Given the description of an element on the screen output the (x, y) to click on. 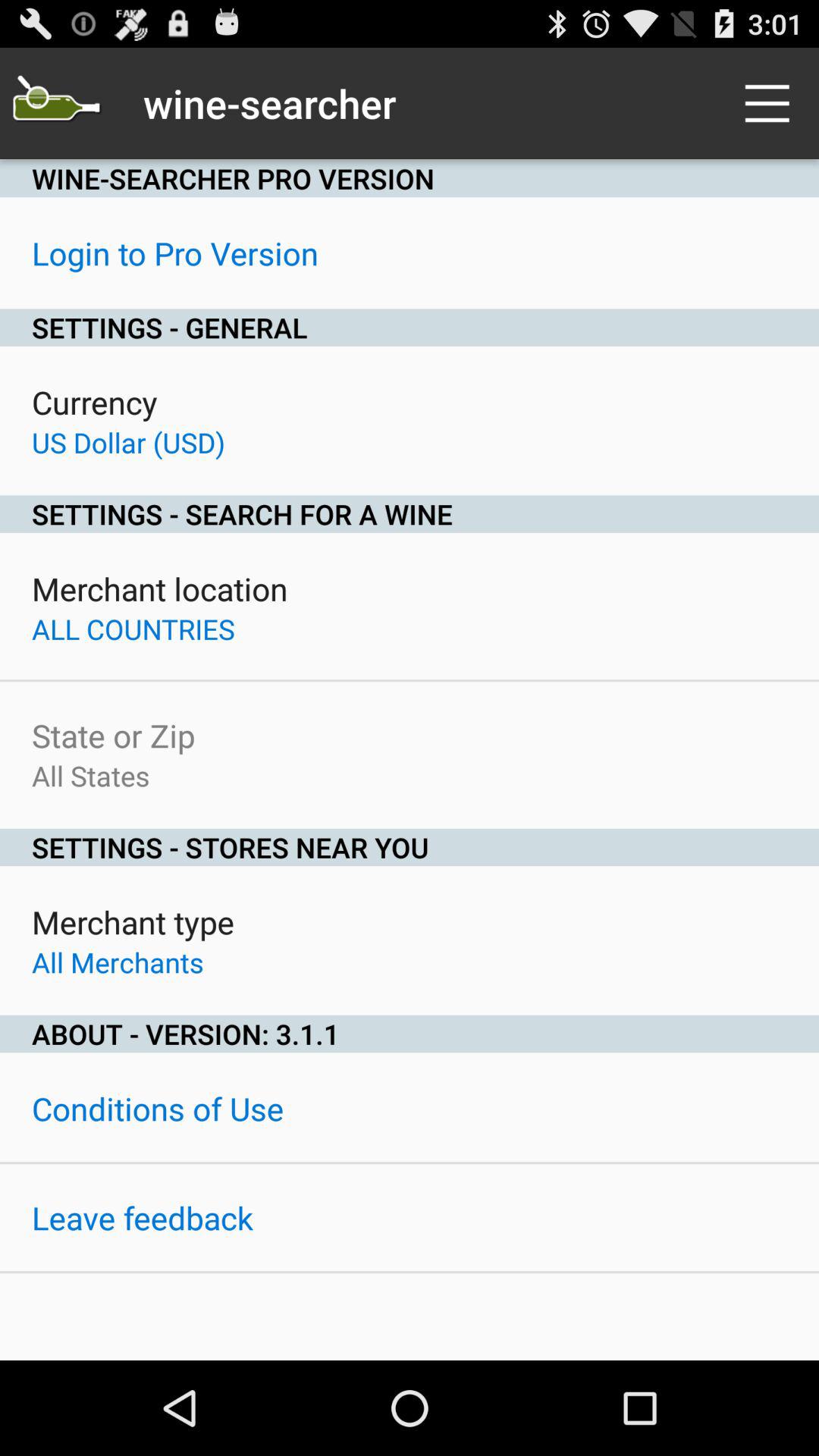
jump until the state or zip (113, 735)
